Given the description of an element on the screen output the (x, y) to click on. 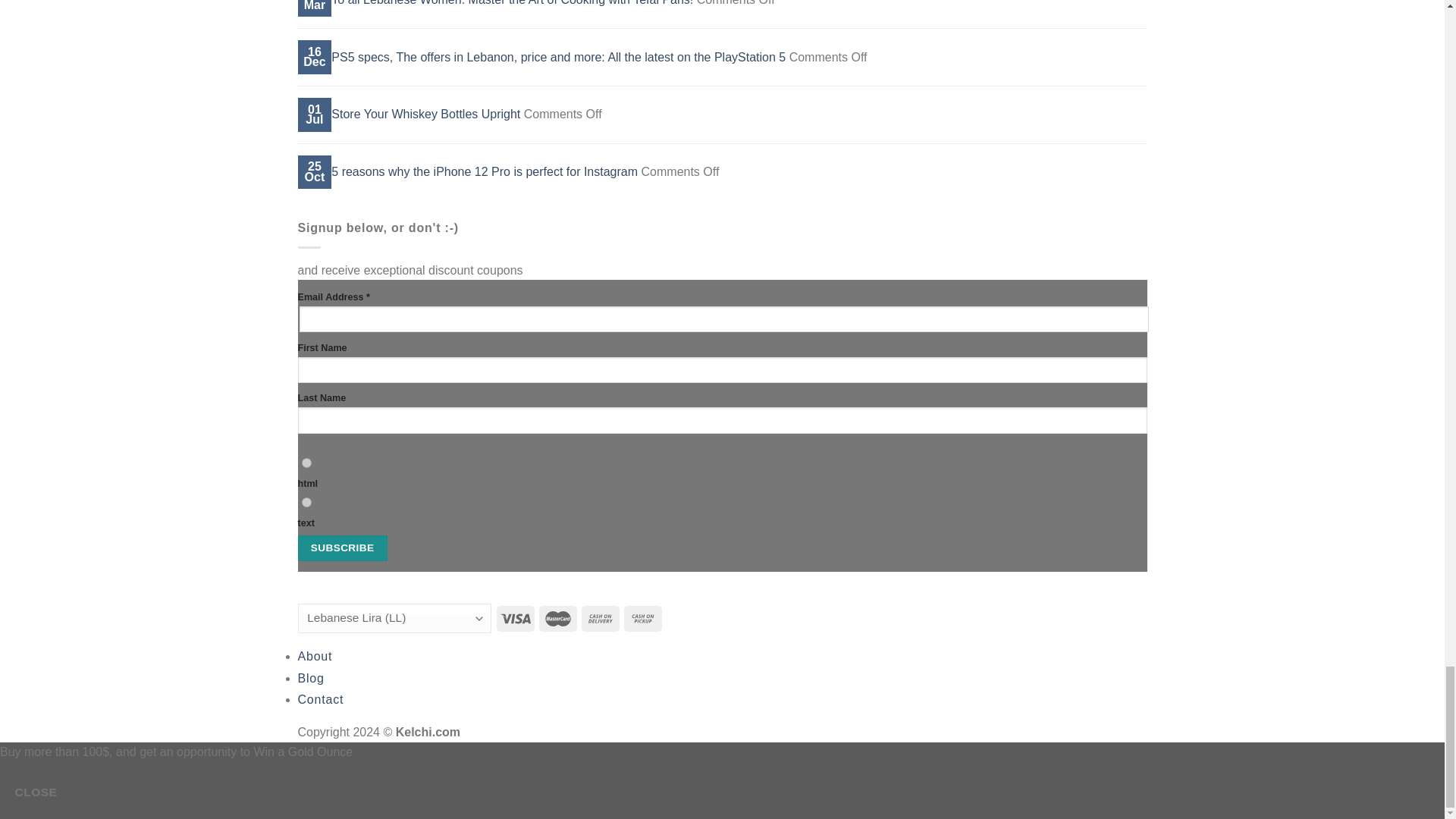
html (306, 462)
Subscribe (342, 548)
text (306, 501)
Store Your Whiskey Bottles Upright (425, 113)
